Given the description of an element on the screen output the (x, y) to click on. 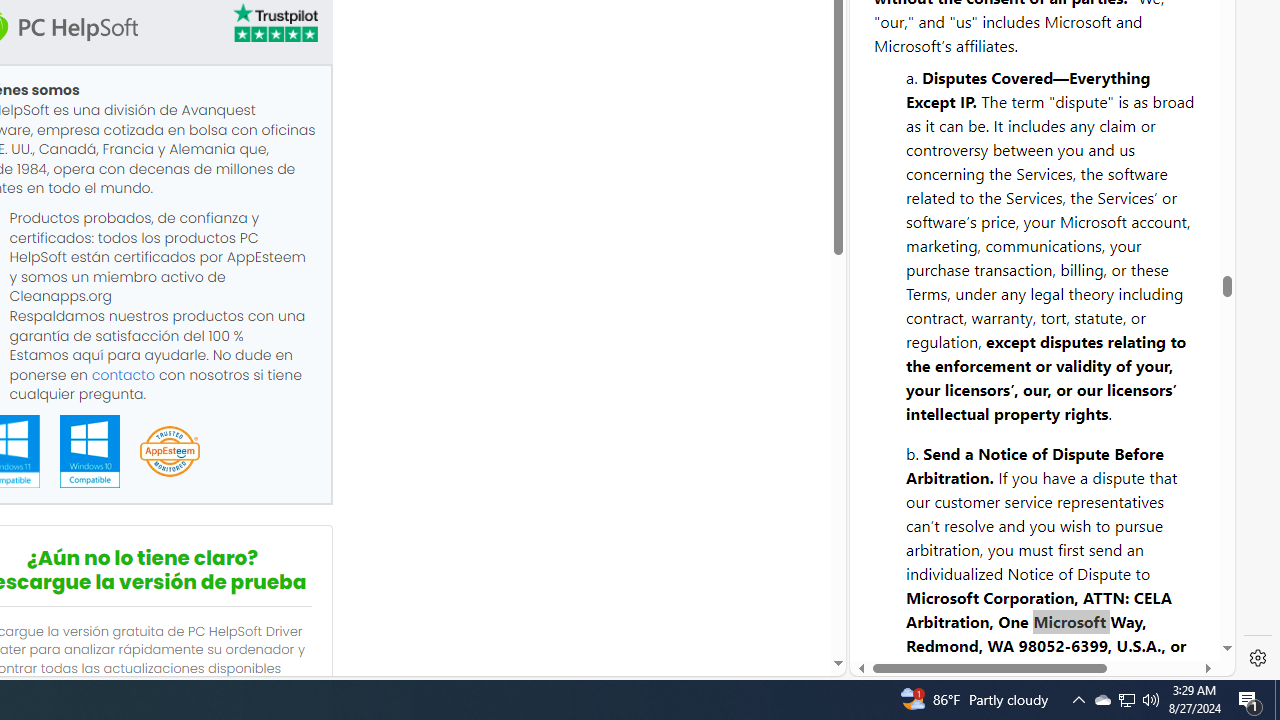
Windows 10 Compatible (89, 451)
contacto (123, 374)
App Esteem (169, 452)
Open in New Tab (1042, 631)
